Given the description of an element on the screen output the (x, y) to click on. 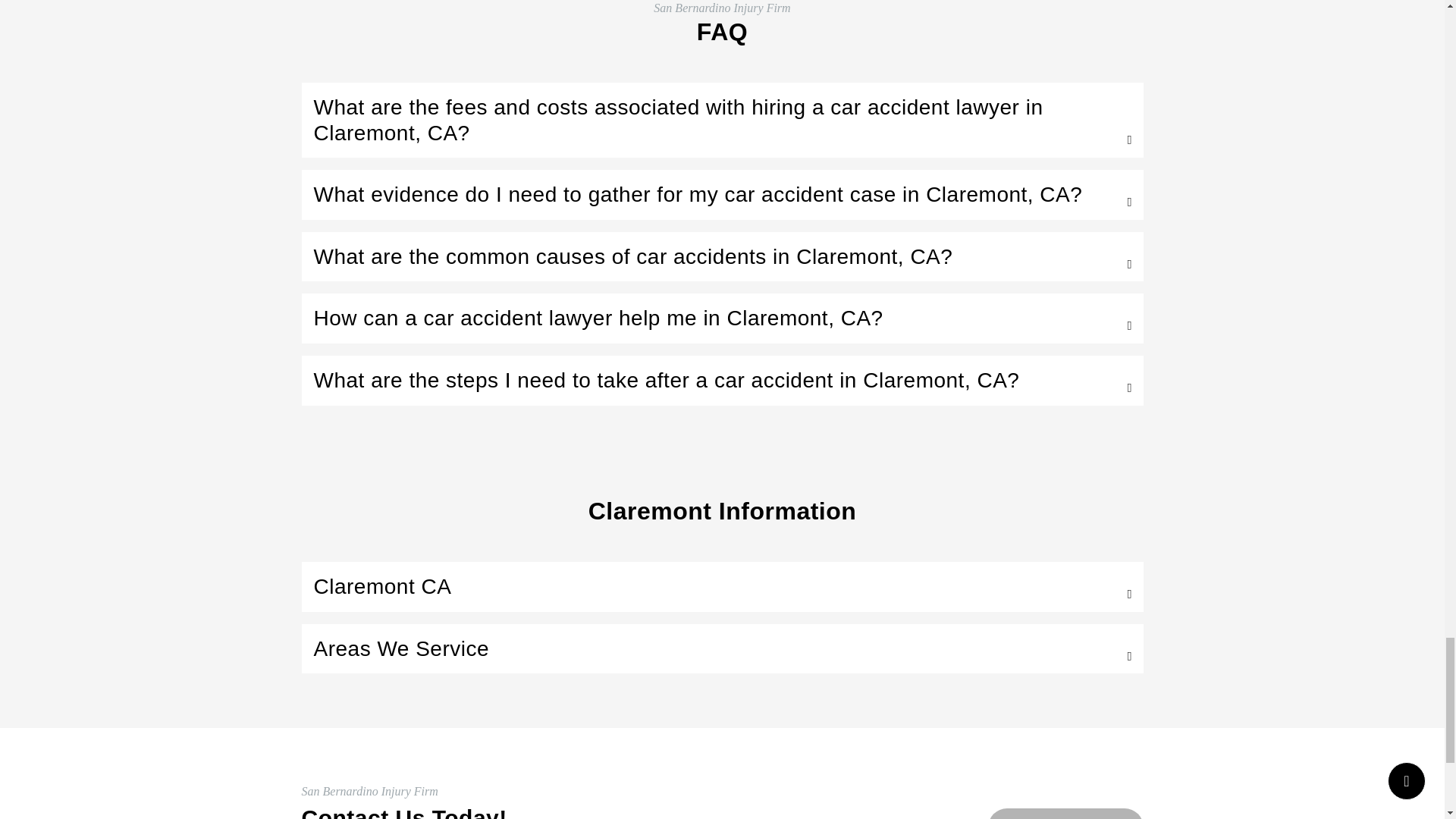
How can a car accident lawyer help me in Claremont, CA? (722, 318)
Free Consultation! (1065, 813)
Areas We Service (722, 648)
Claremont CA (722, 586)
